Given the description of an element on the screen output the (x, y) to click on. 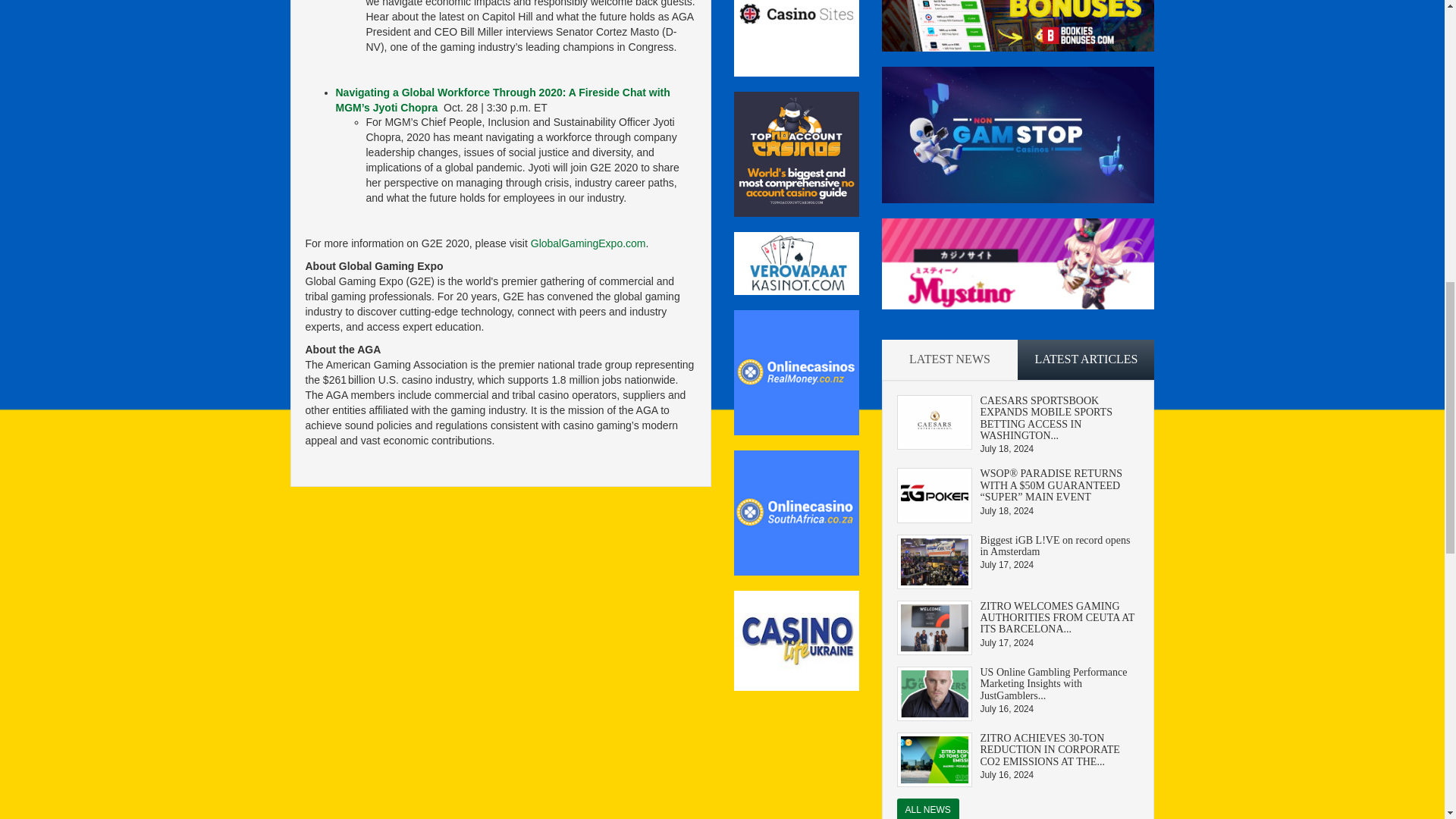
GlobalGamingExpo.com (588, 243)
